Given the description of an element on the screen output the (x, y) to click on. 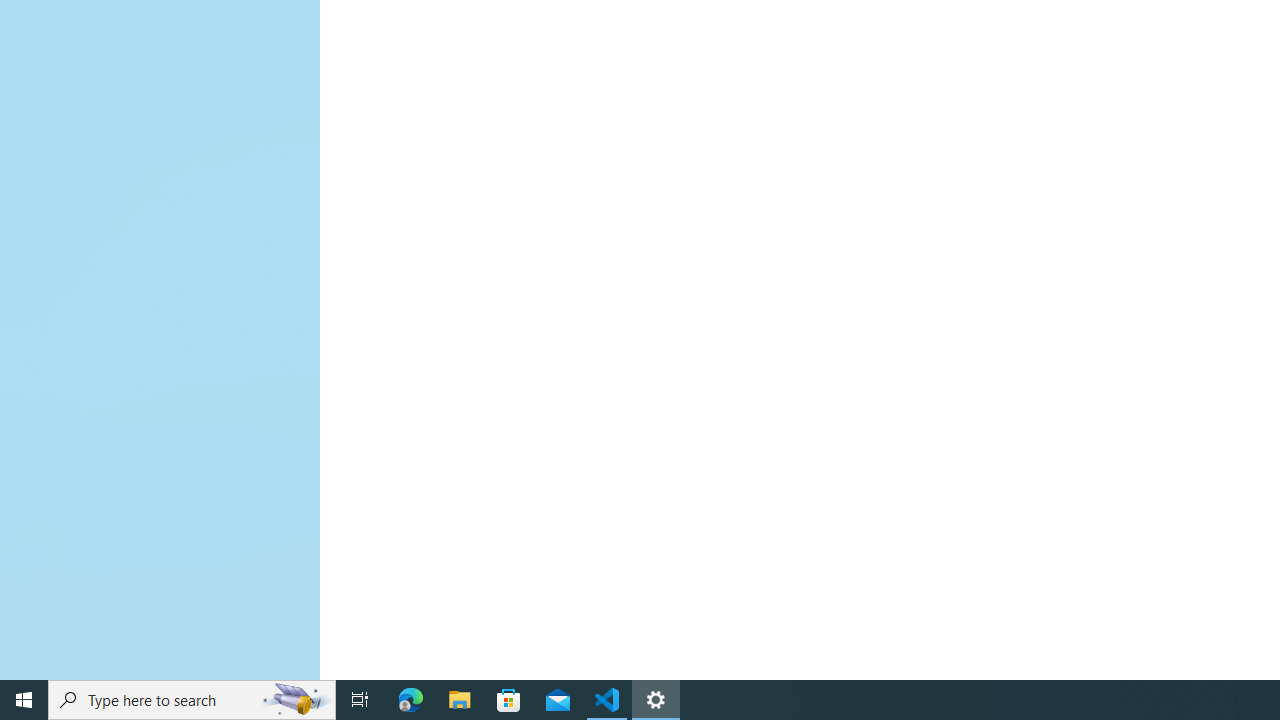
Search highlights icon opens search home window (295, 699)
Type here to search (191, 699)
File Explorer (460, 699)
Task View (359, 699)
Microsoft Store (509, 699)
Microsoft Edge (411, 699)
Start (24, 699)
Visual Studio Code - 1 running window (607, 699)
Settings - 1 running window (656, 699)
